Given the description of an element on the screen output the (x, y) to click on. 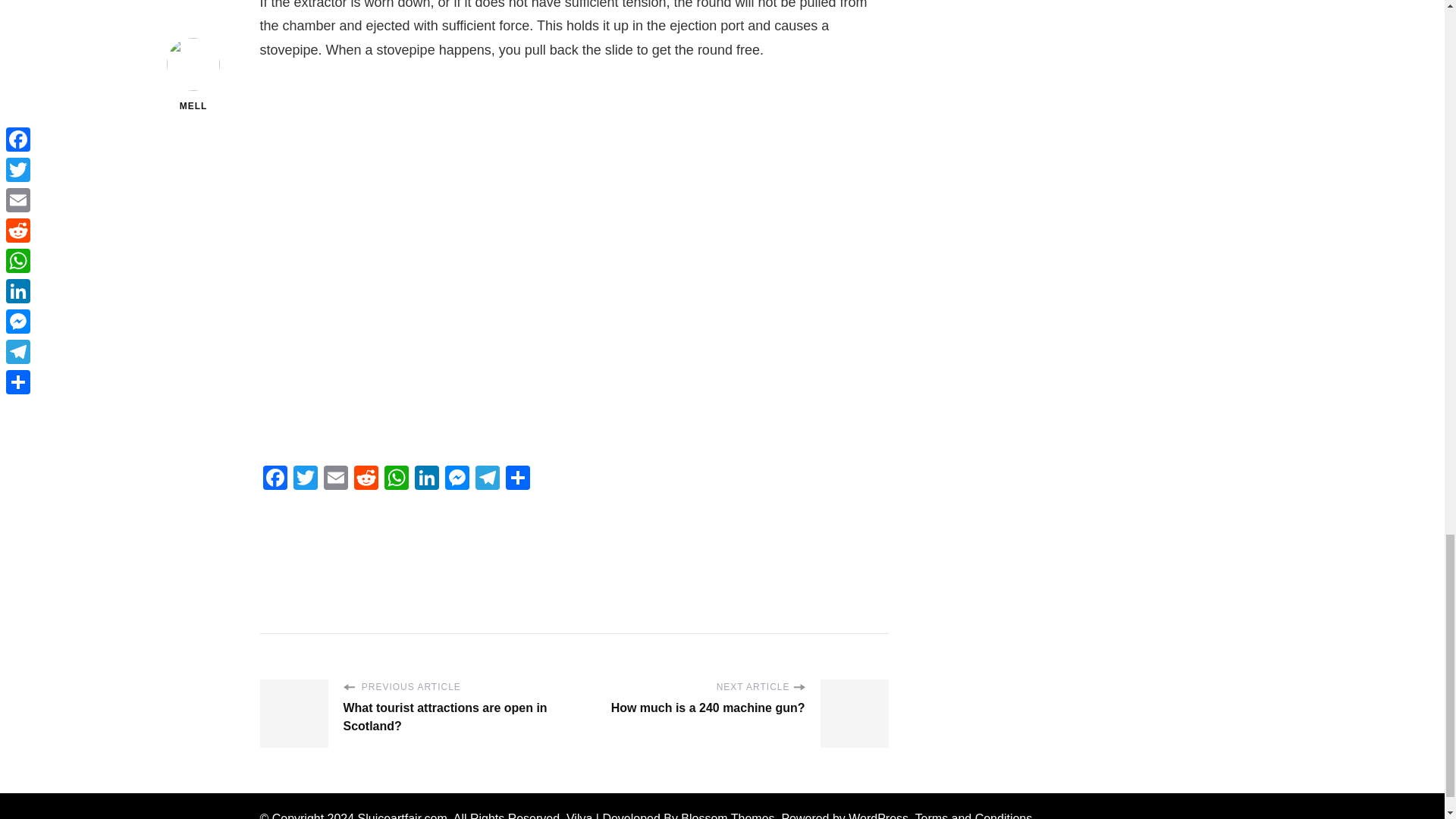
Email (335, 479)
Twitter (304, 479)
Email (335, 479)
Facebook (274, 479)
LinkedIn (425, 479)
LinkedIn (425, 479)
Blossom Themes (727, 815)
Reddit (365, 479)
Messenger (456, 479)
Telegram (486, 479)
